Given the description of an element on the screen output the (x, y) to click on. 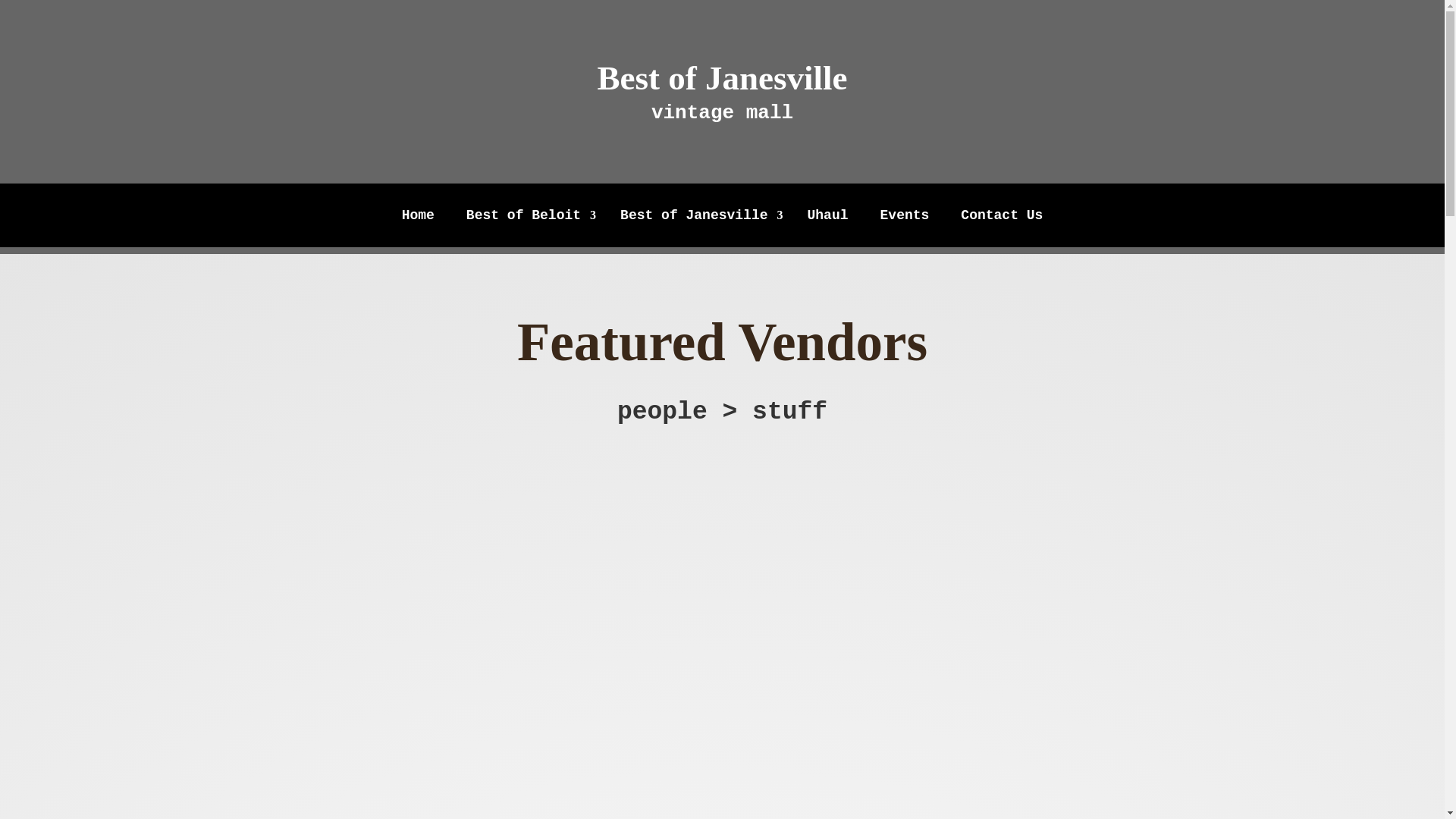
Best of Beloit (526, 217)
Home (418, 217)
Contact Us (1001, 217)
Events (904, 217)
Best of Janesville (697, 217)
Uhaul (827, 217)
